Given the description of an element on the screen output the (x, y) to click on. 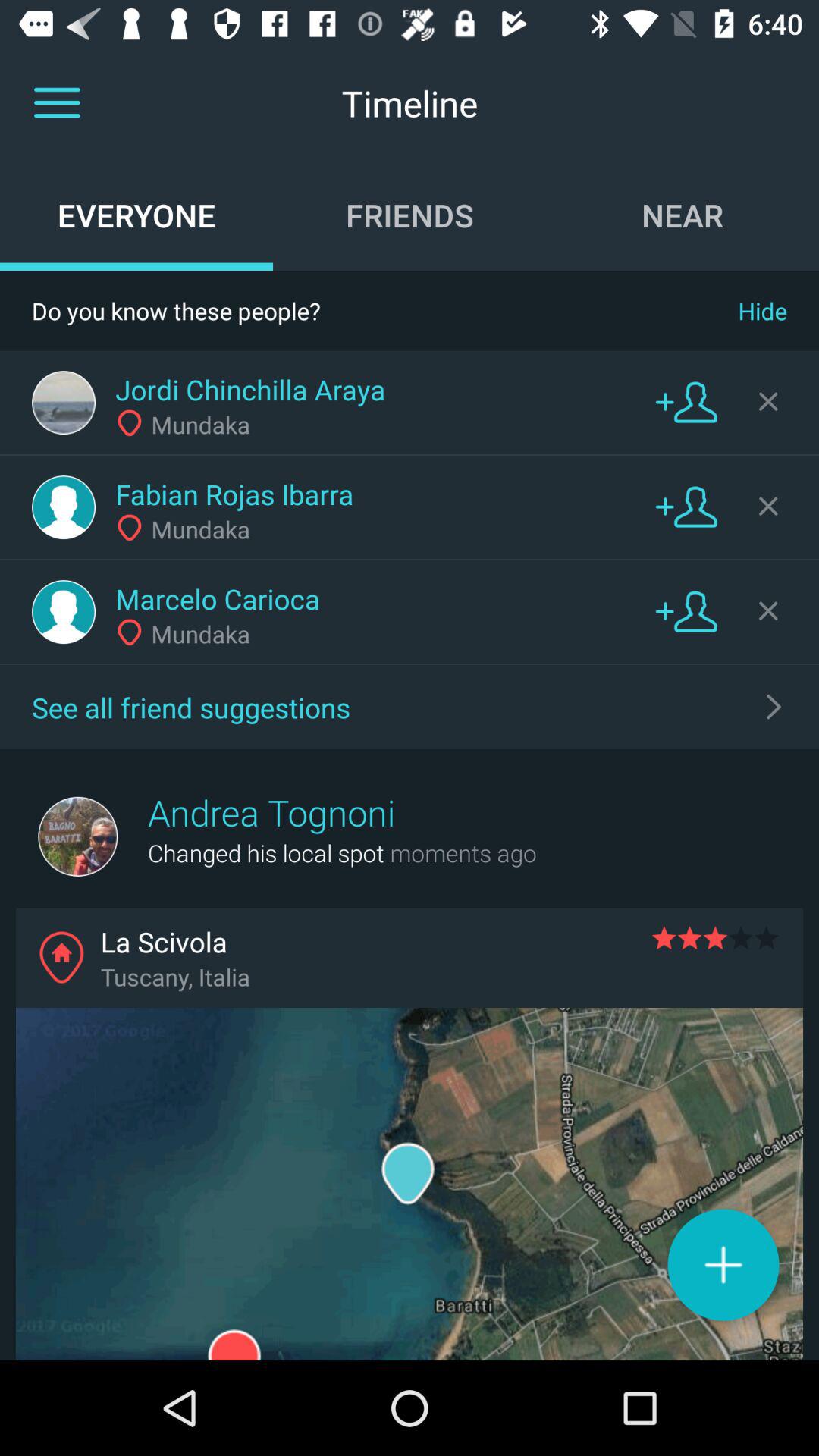
interactive map to view surfing location of friends (409, 1183)
